Given the description of an element on the screen output the (x, y) to click on. 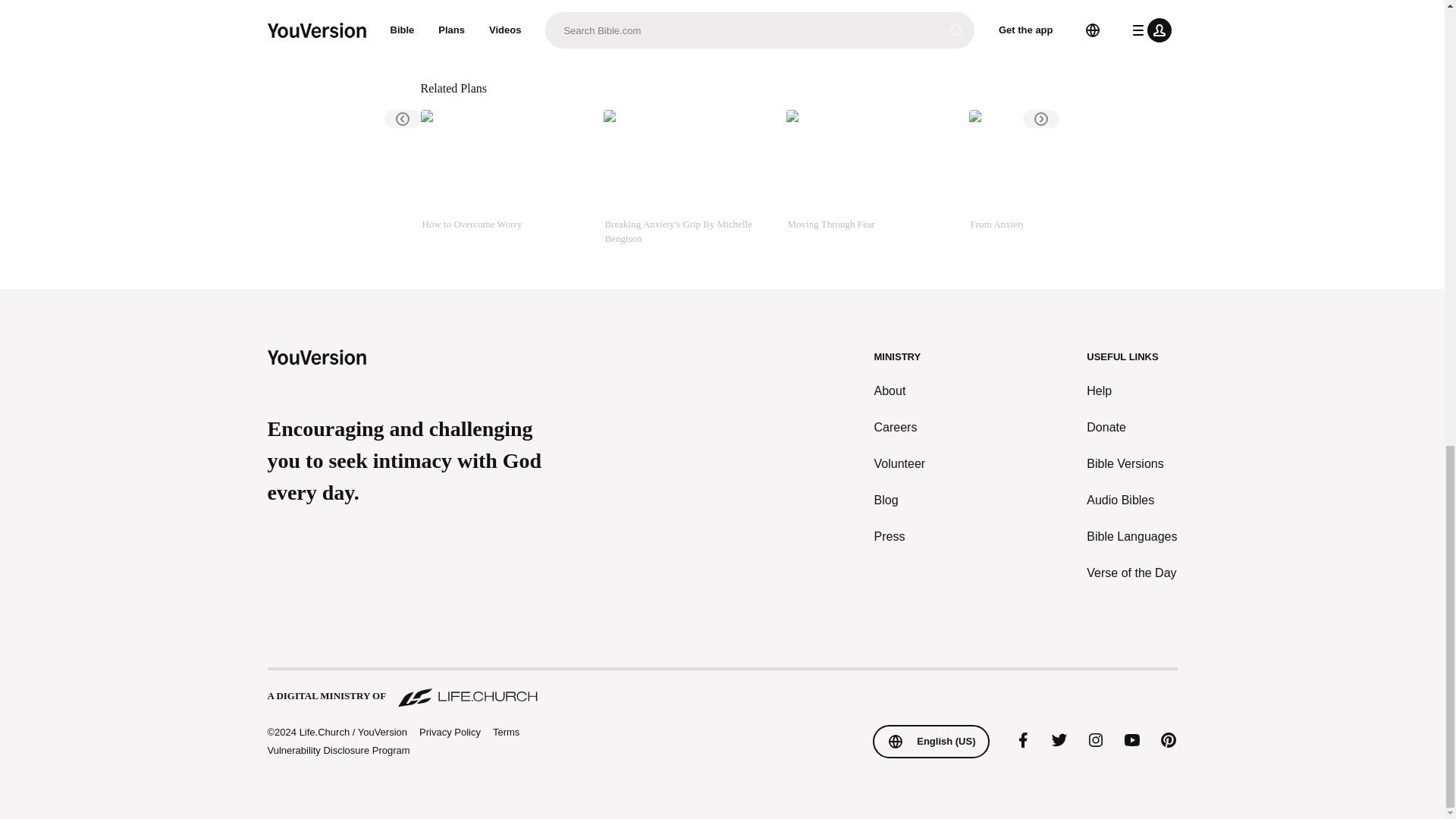
Terms (506, 731)
Bible Languages (1131, 536)
Audio Bibles (1131, 500)
Press (900, 536)
Donate (1131, 427)
About (900, 391)
Bible Versions (1131, 464)
Vulnerability Disclosure Program (337, 749)
Privacy Policy (449, 732)
From Anxiety to Peace (1054, 177)
